Given the description of an element on the screen output the (x, y) to click on. 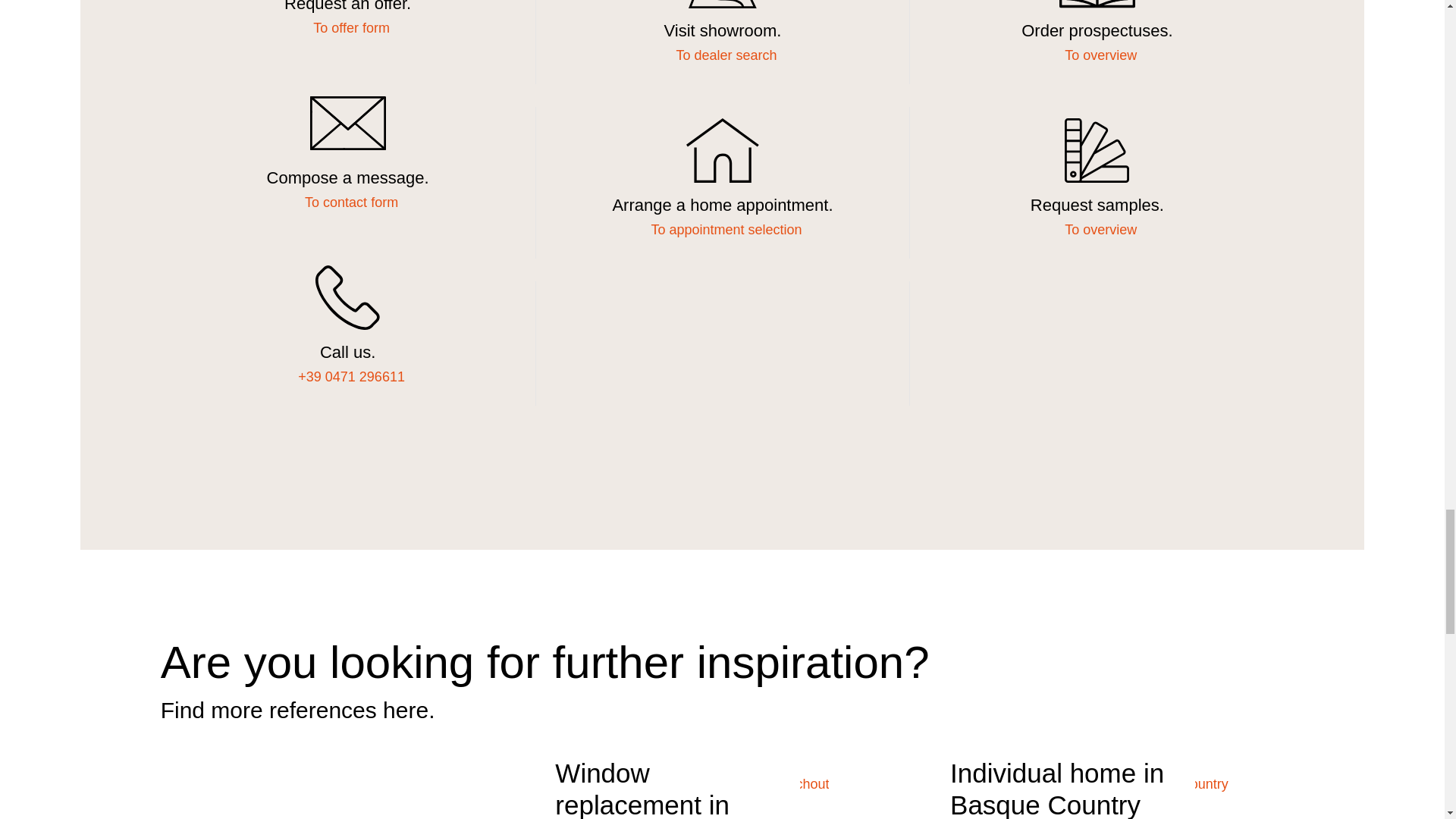
To offer form (347, 28)
To contact form (347, 201)
